Given the description of an element on the screen output the (x, y) to click on. 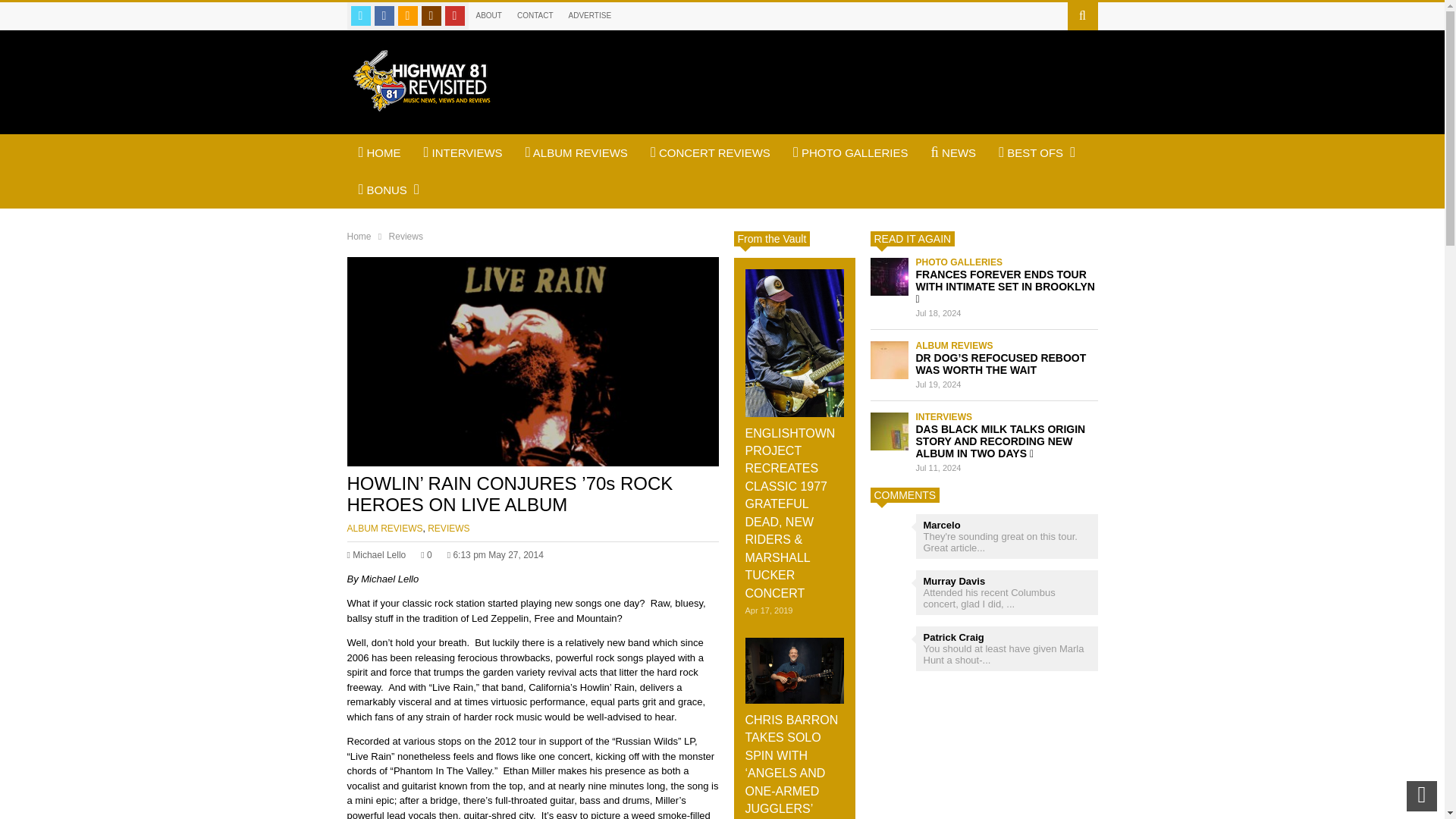
View all posts in Reviews (448, 528)
View all posts in Album Reviews (385, 528)
BONUS (388, 189)
Reviews (405, 235)
Twitter (359, 15)
Facebook (384, 15)
0 (425, 554)
Instagram (431, 15)
ABOUT (488, 15)
ALBUM REVIEWS (385, 528)
